Given the description of an element on the screen output the (x, y) to click on. 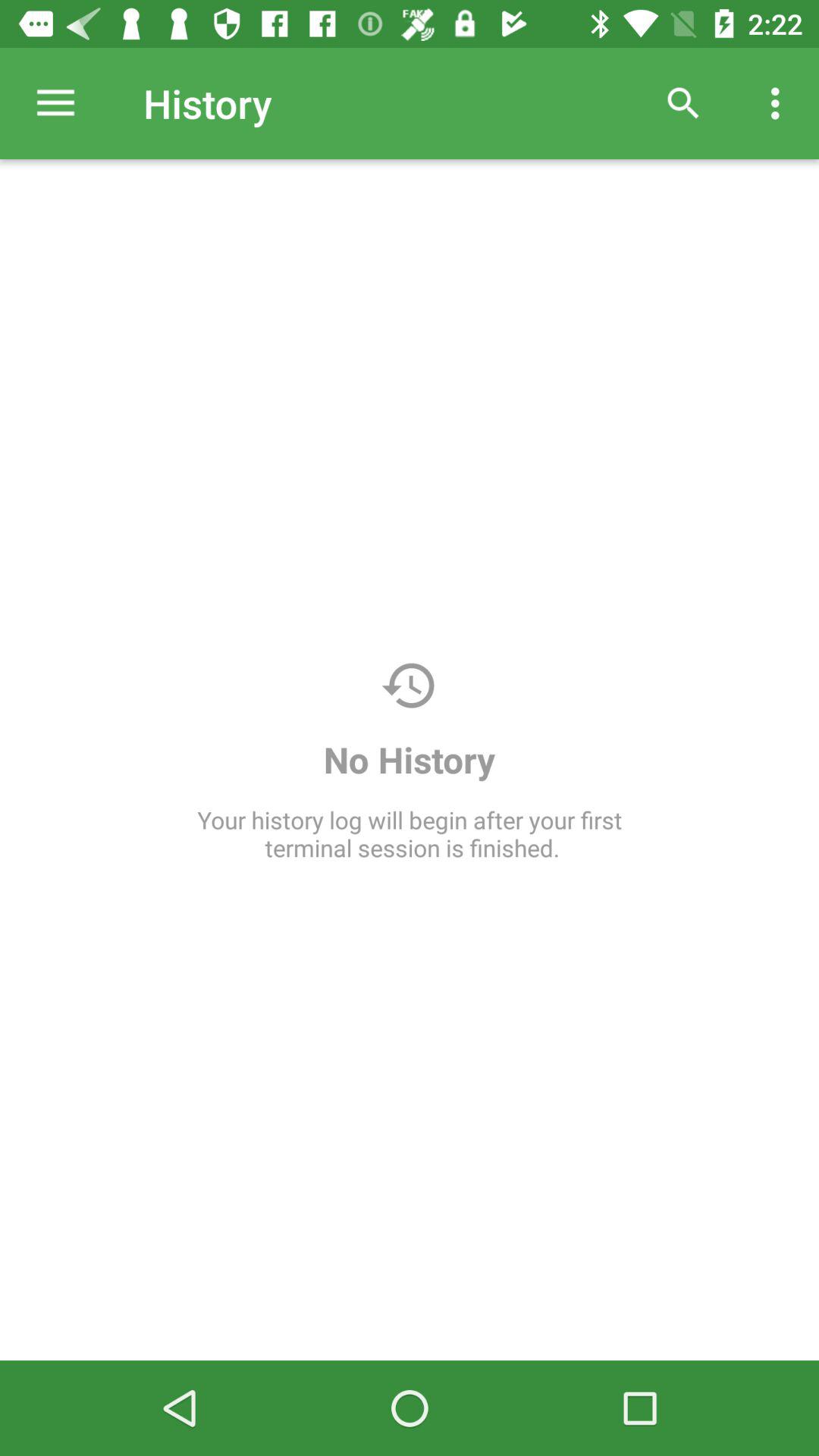
turn on the item next to history item (55, 103)
